Given the description of an element on the screen output the (x, y) to click on. 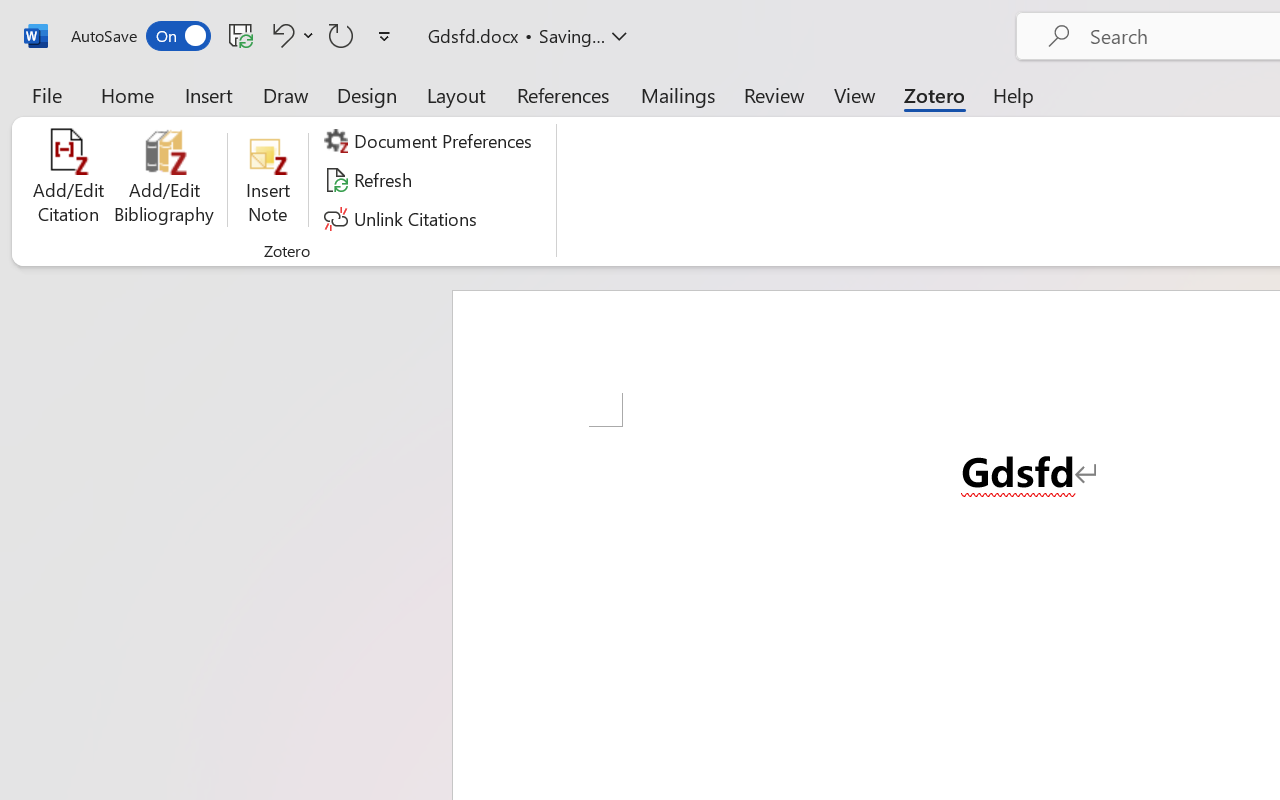
Undo <ApplyStyleToDoc>b__0 (290, 35)
Refresh (370, 179)
Repeat Style (341, 35)
Add/Edit Citation (68, 179)
Add/Edit Bibliography (164, 179)
